Given the description of an element on the screen output the (x, y) to click on. 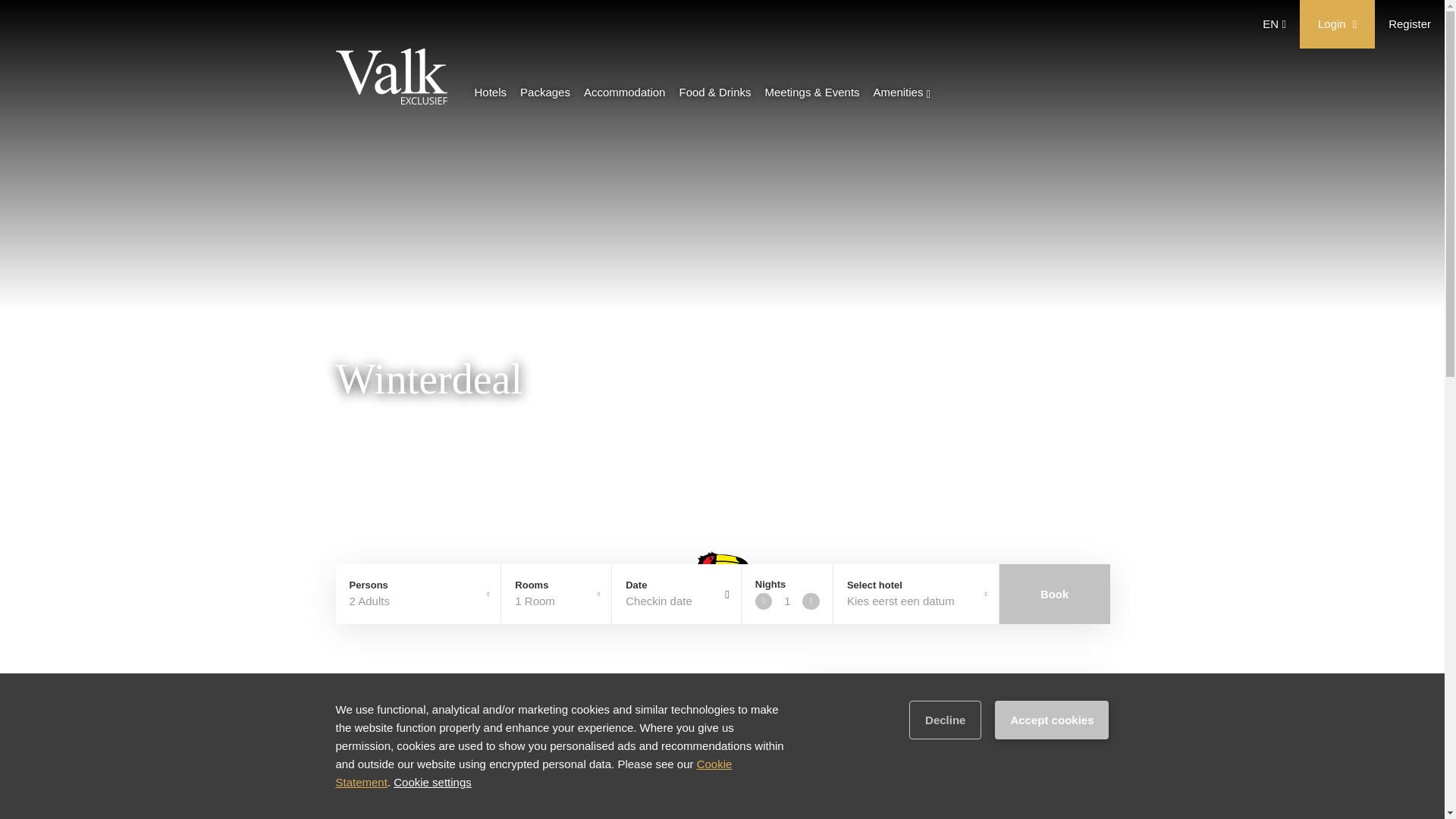
Login (1337, 24)
Decline (944, 720)
Accommodation (624, 94)
Packages (544, 94)
Hotels (490, 94)
Accept cookies (1051, 720)
Cookie Statement (533, 772)
Register (1410, 23)
Valk Exclusief (390, 78)
